Given the description of an element on the screen output the (x, y) to click on. 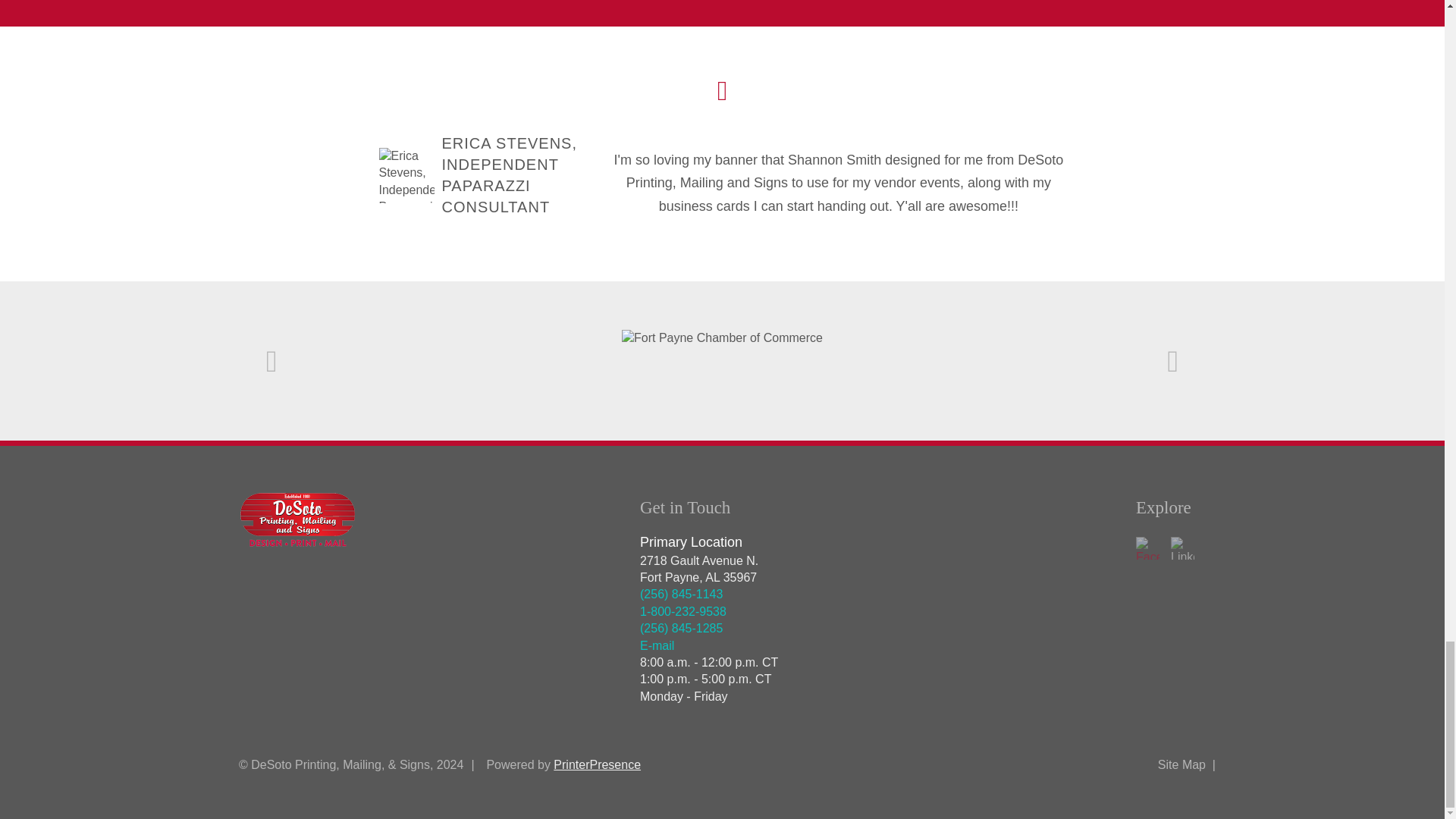
logo (297, 520)
